Given the description of an element on the screen output the (x, y) to click on. 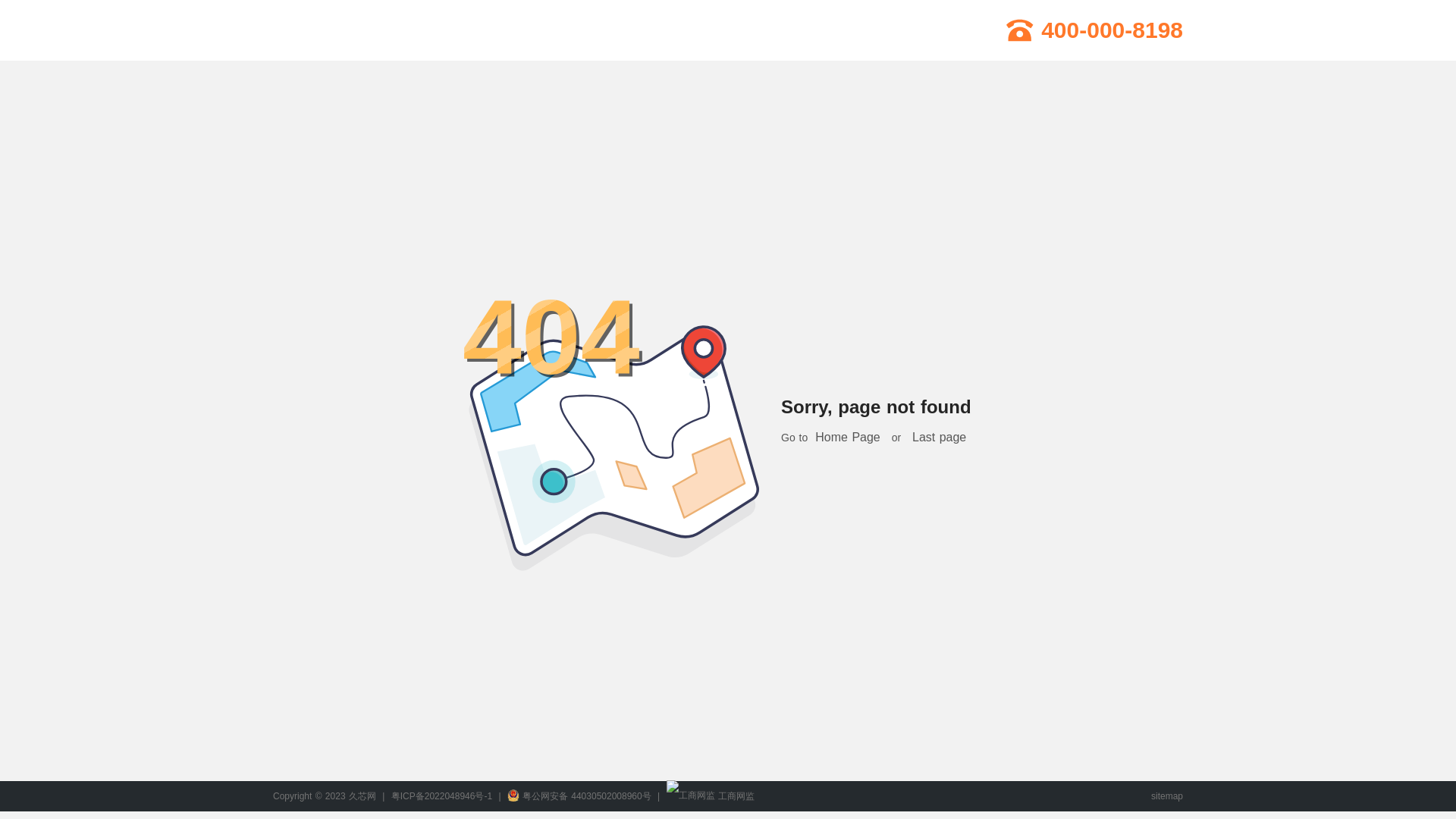
Last page (939, 437)
Home Page (848, 437)
sitemap (1166, 796)
